Given the description of an element on the screen output the (x, y) to click on. 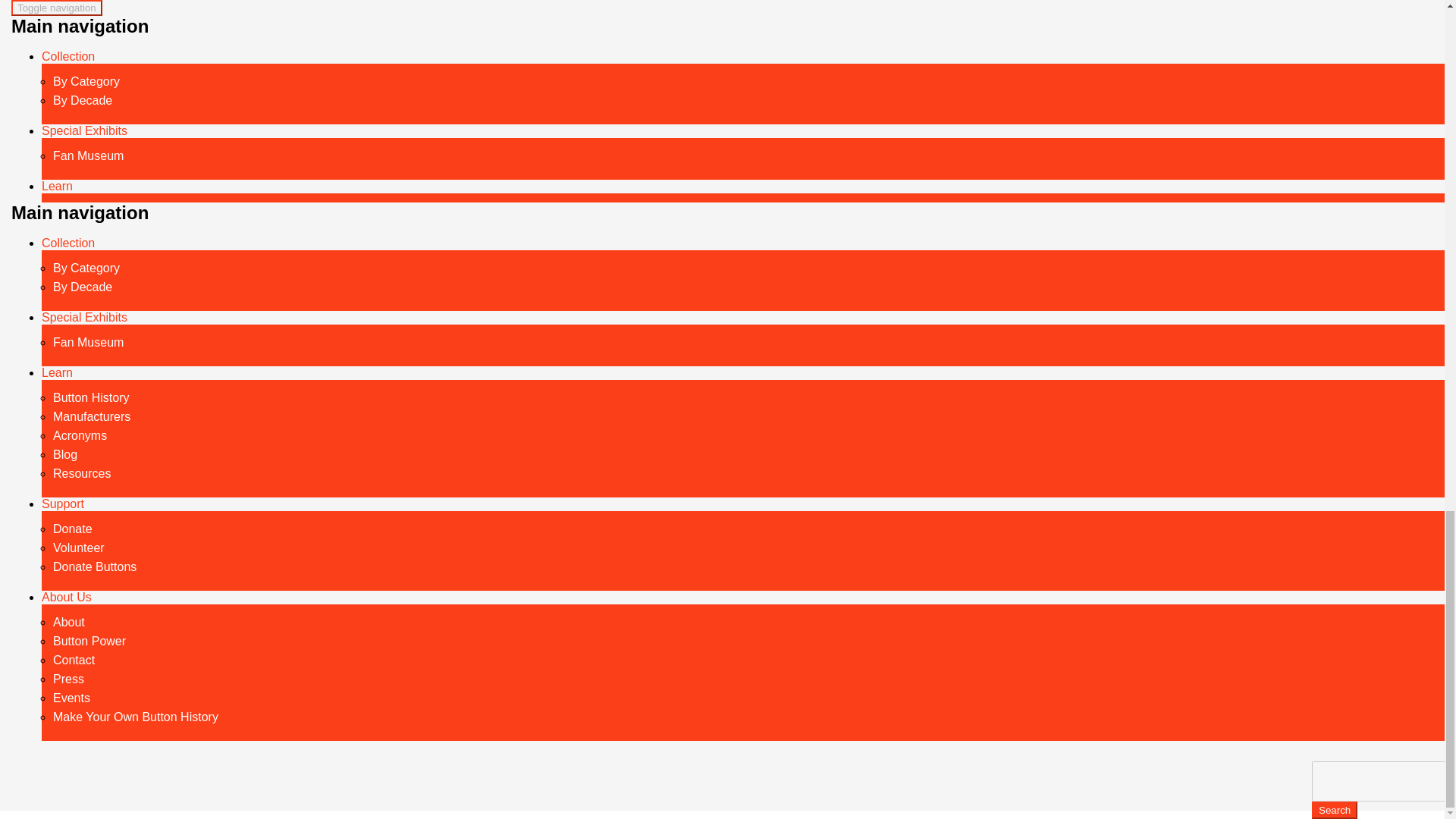
please contact us (383, 160)
physical museum (93, 160)
Collection (68, 242)
